Given the description of an element on the screen output the (x, y) to click on. 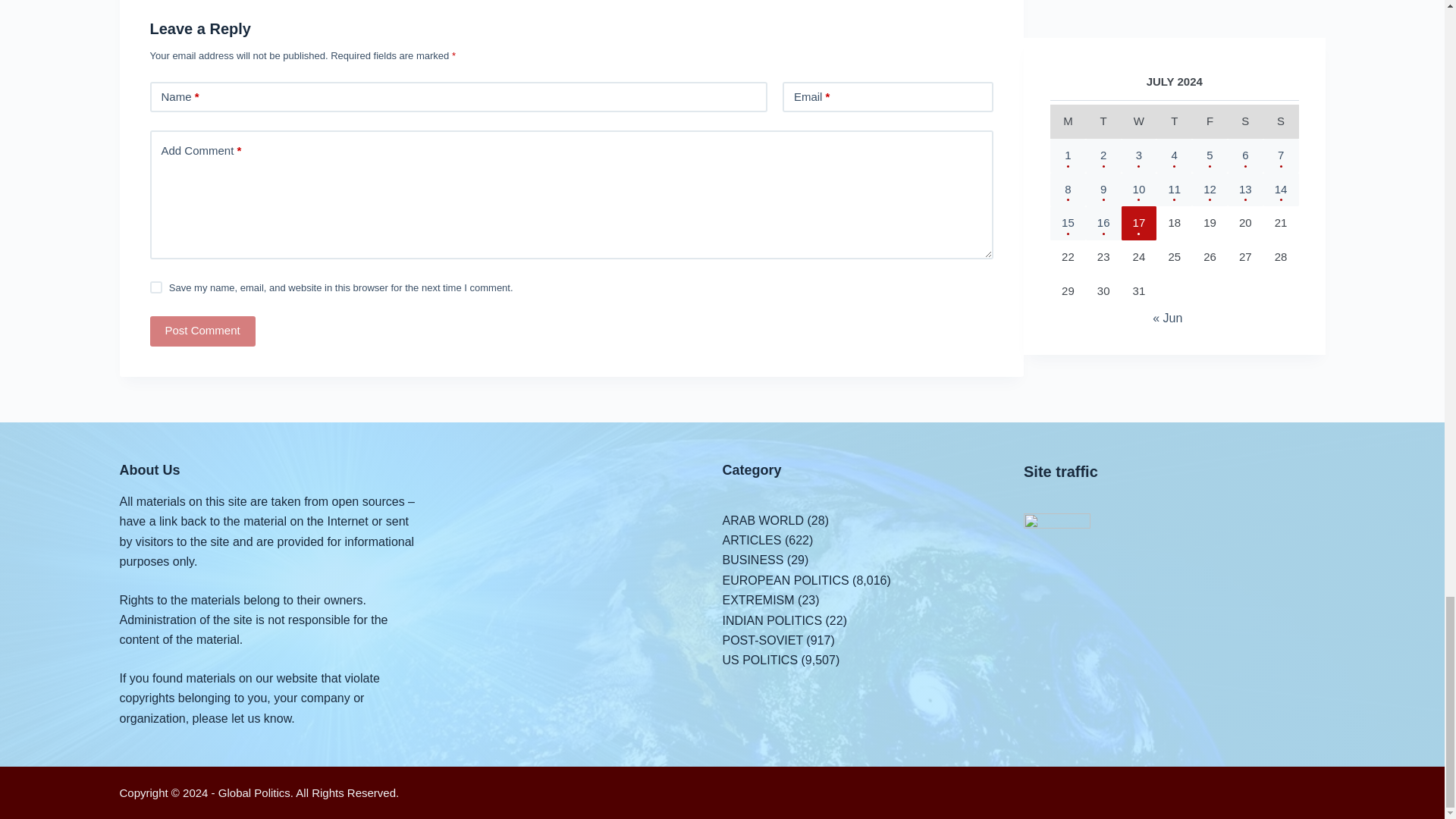
Rated by I.UA (1056, 522)
yes (155, 287)
